Given the description of an element on the screen output the (x, y) to click on. 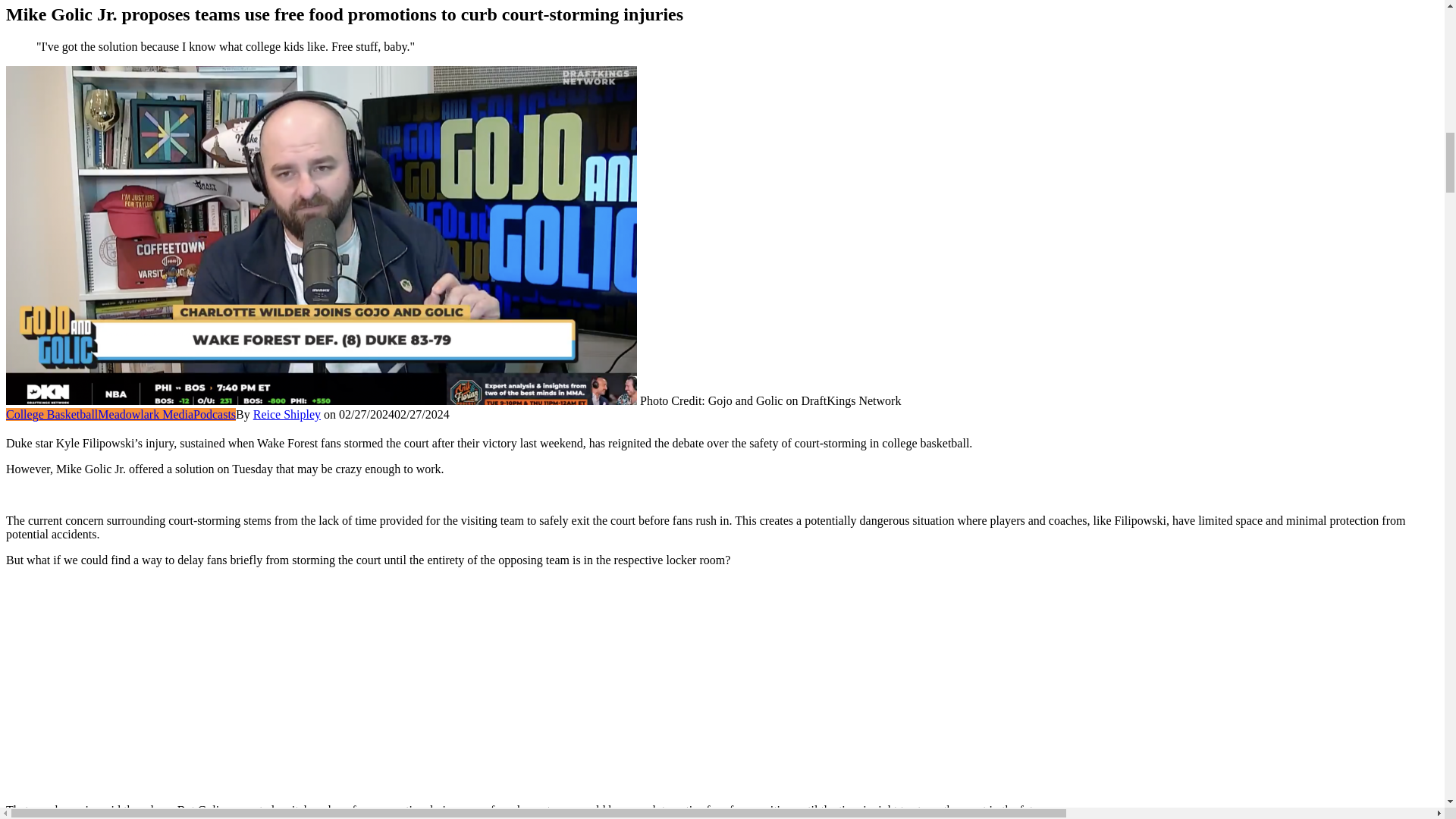
View all posts in Meadowlark Media (145, 413)
View all posts in Podcasts (214, 413)
View all posts in College Basketball (51, 413)
